Given the description of an element on the screen output the (x, y) to click on. 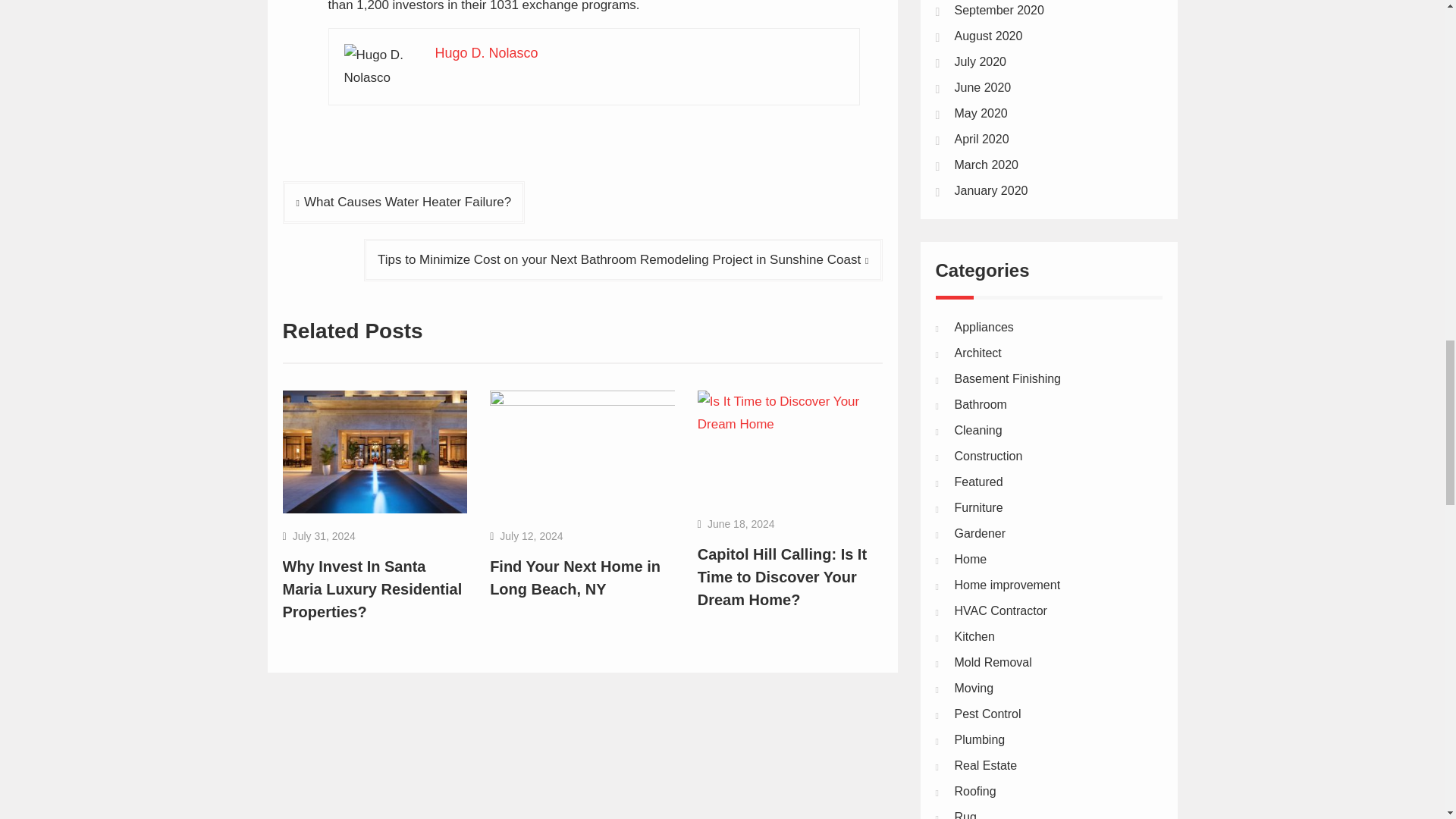
Why Invest In Santa Maria Luxury Residential Properties? (371, 588)
Hugo D. Nolasco (486, 52)
Find Your Next Home in Long Beach, NY (575, 577)
What Causes Water Heater Failure? (403, 201)
